Given the description of an element on the screen output the (x, y) to click on. 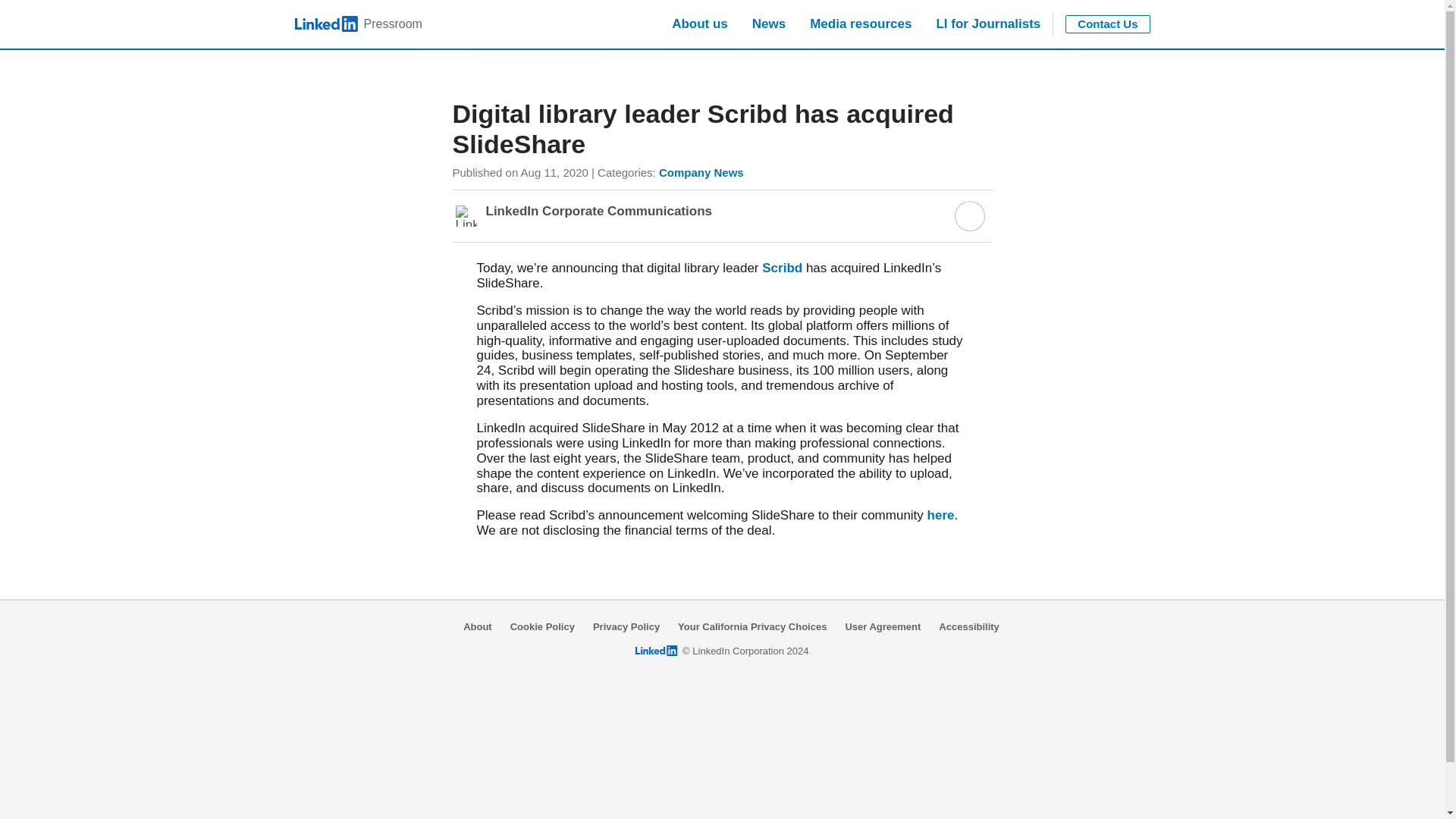
Media resources (357, 23)
LI for Journalists (860, 24)
Accessibility (987, 24)
Cookie Policy (968, 626)
LI for Journalists (543, 626)
About us (987, 24)
Scribd (699, 24)
Contact Us (781, 268)
News (1107, 24)
